Given the description of an element on the screen output the (x, y) to click on. 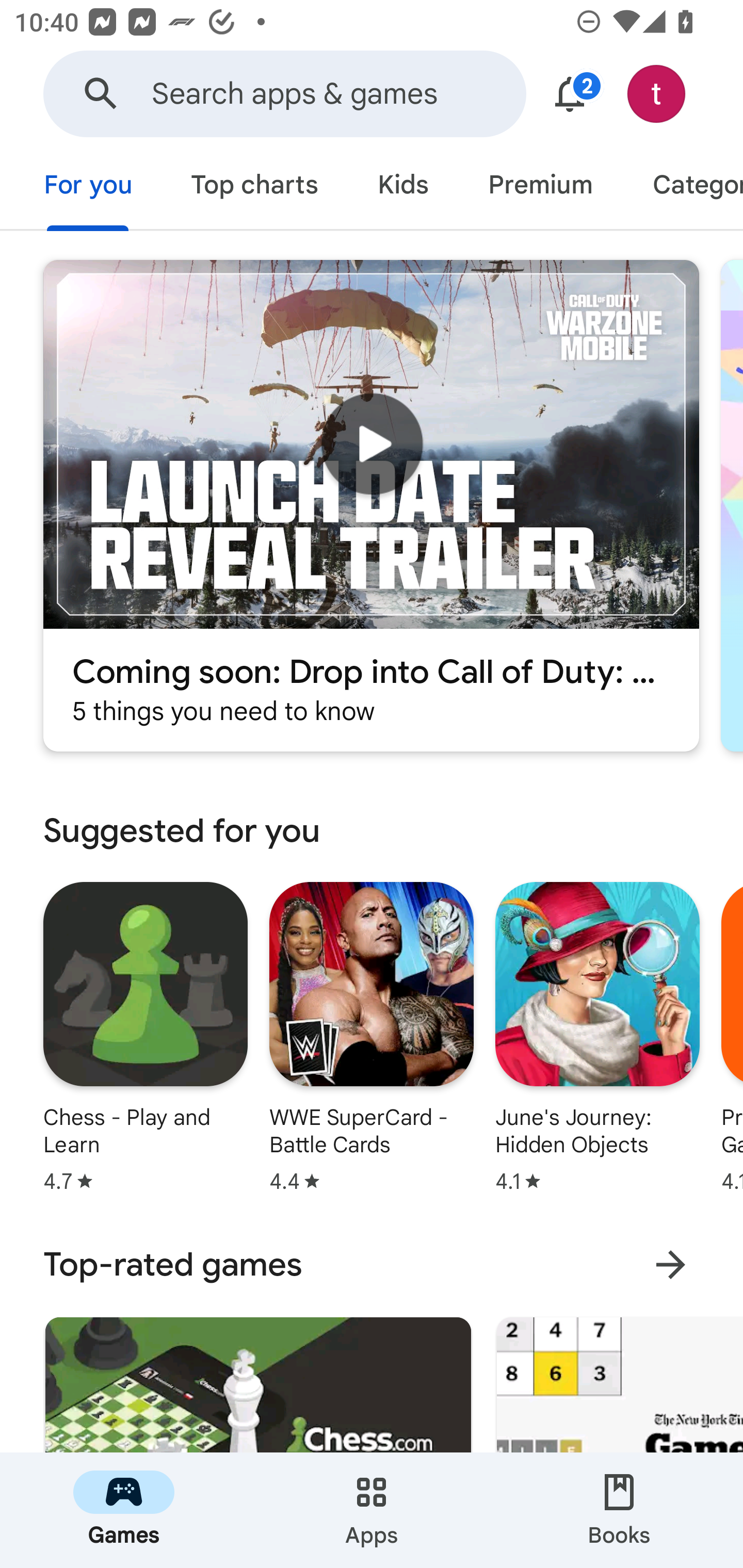
Search Google Play Search apps & games (284, 93)
Search Google Play (100, 93)
Top charts (254, 187)
Kids (402, 187)
Premium (540, 187)
Categories (682, 187)
Chess - Play and Learn
Star rating: 4.7
 (145, 1037)
WWE SuperCard - Battle Cards
Star rating: 4.4
 (371, 1037)
June's Journey: Hidden Objects
Star rating: 4.1
 (597, 1037)
Top-rated games More results for Top-rated games (371, 1264)
More results for Top-rated games (670, 1264)
Apps (371, 1509)
Books (619, 1509)
